Given the description of an element on the screen output the (x, y) to click on. 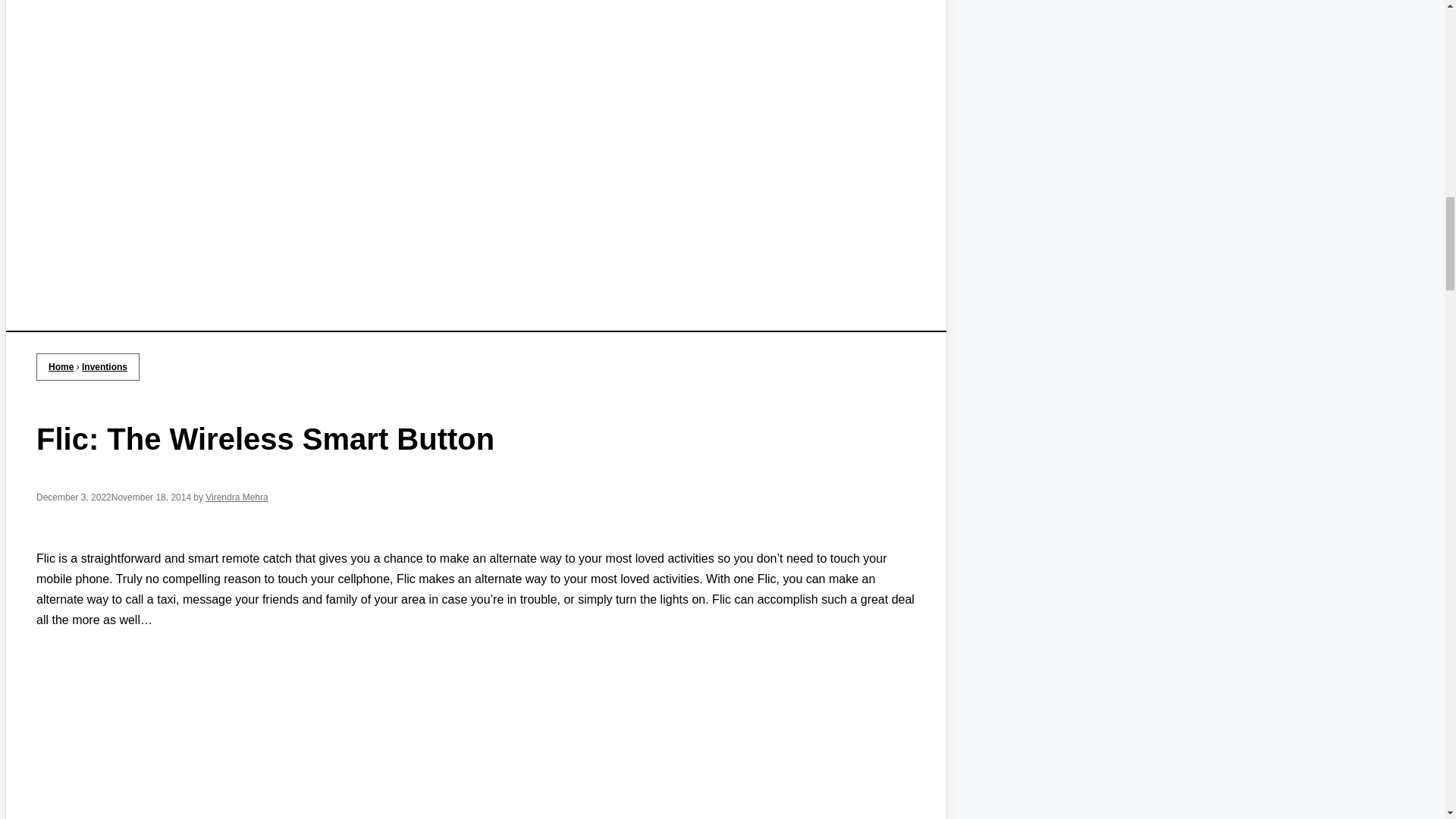
View all posts by Virendra Mehra (236, 497)
Inventions (104, 366)
Virendra Mehra (236, 497)
Home (61, 366)
